Given the description of an element on the screen output the (x, y) to click on. 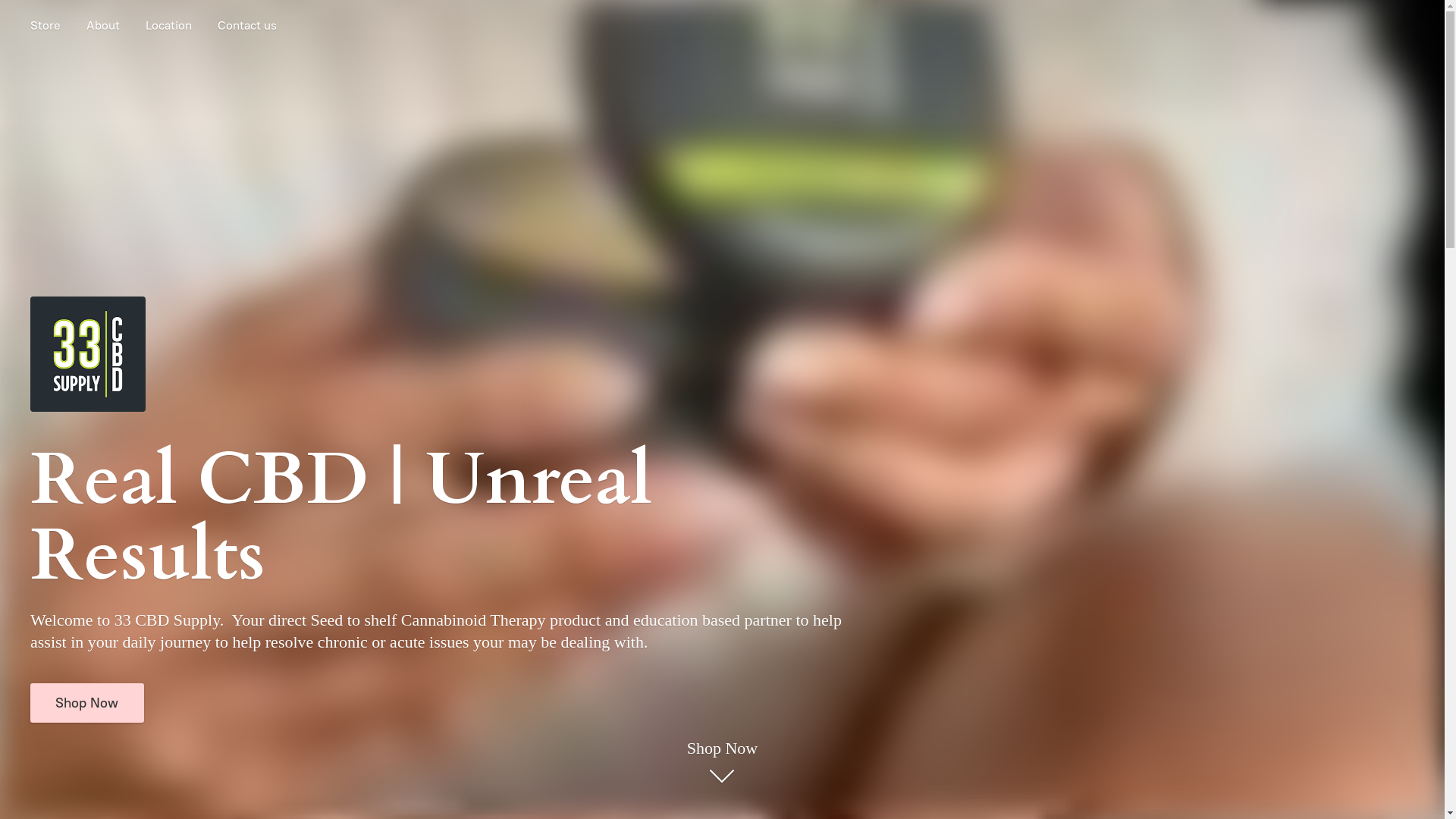
About Element type: text (103, 26)
Shop Now Element type: text (87, 702)
Location Element type: text (168, 26)
Store Element type: text (45, 26)
Shop Now Element type: text (722, 762)
Contact us Element type: text (247, 26)
